Given the description of an element on the screen output the (x, y) to click on. 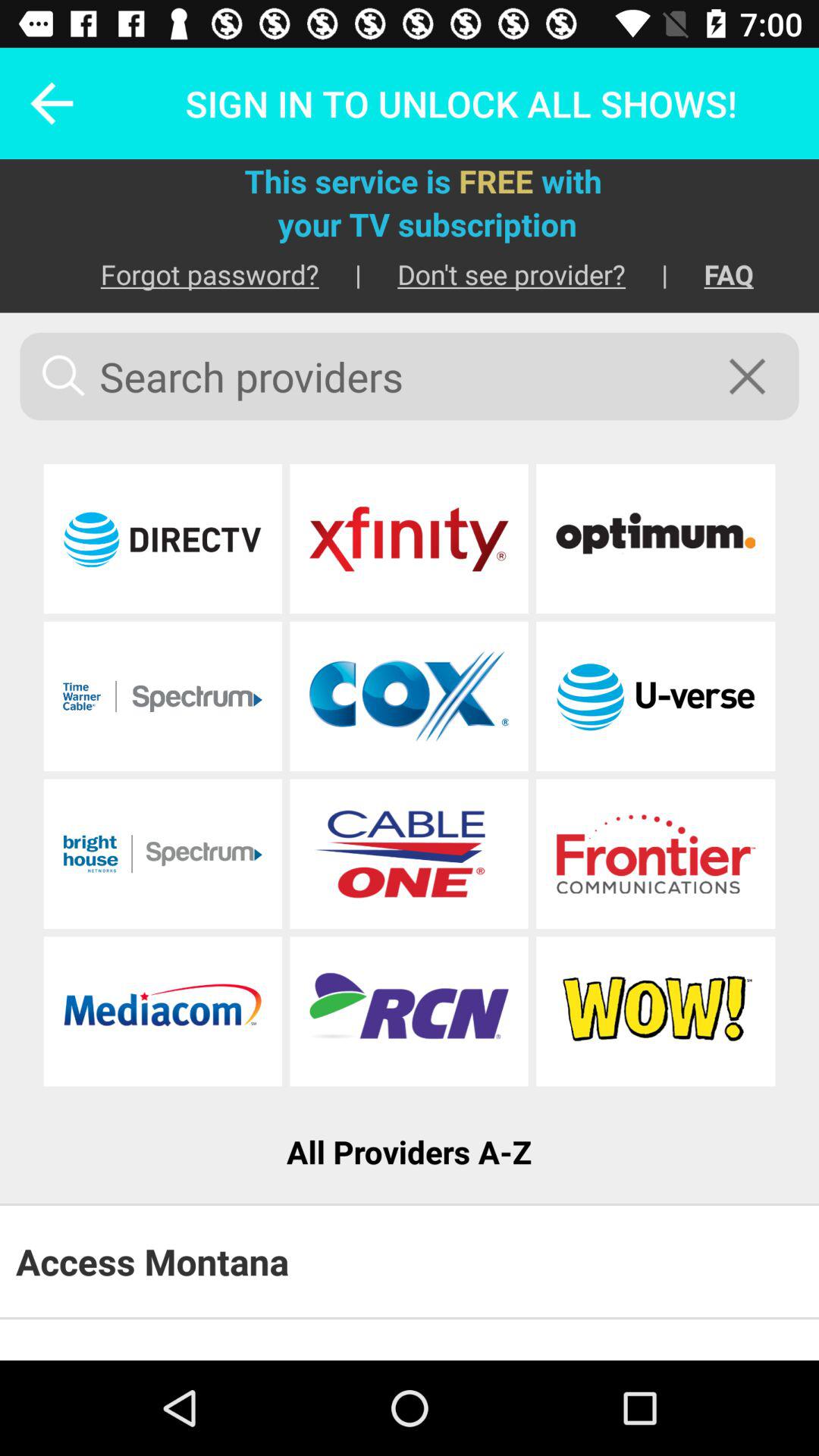
select optimum (655, 538)
